Given the description of an element on the screen output the (x, y) to click on. 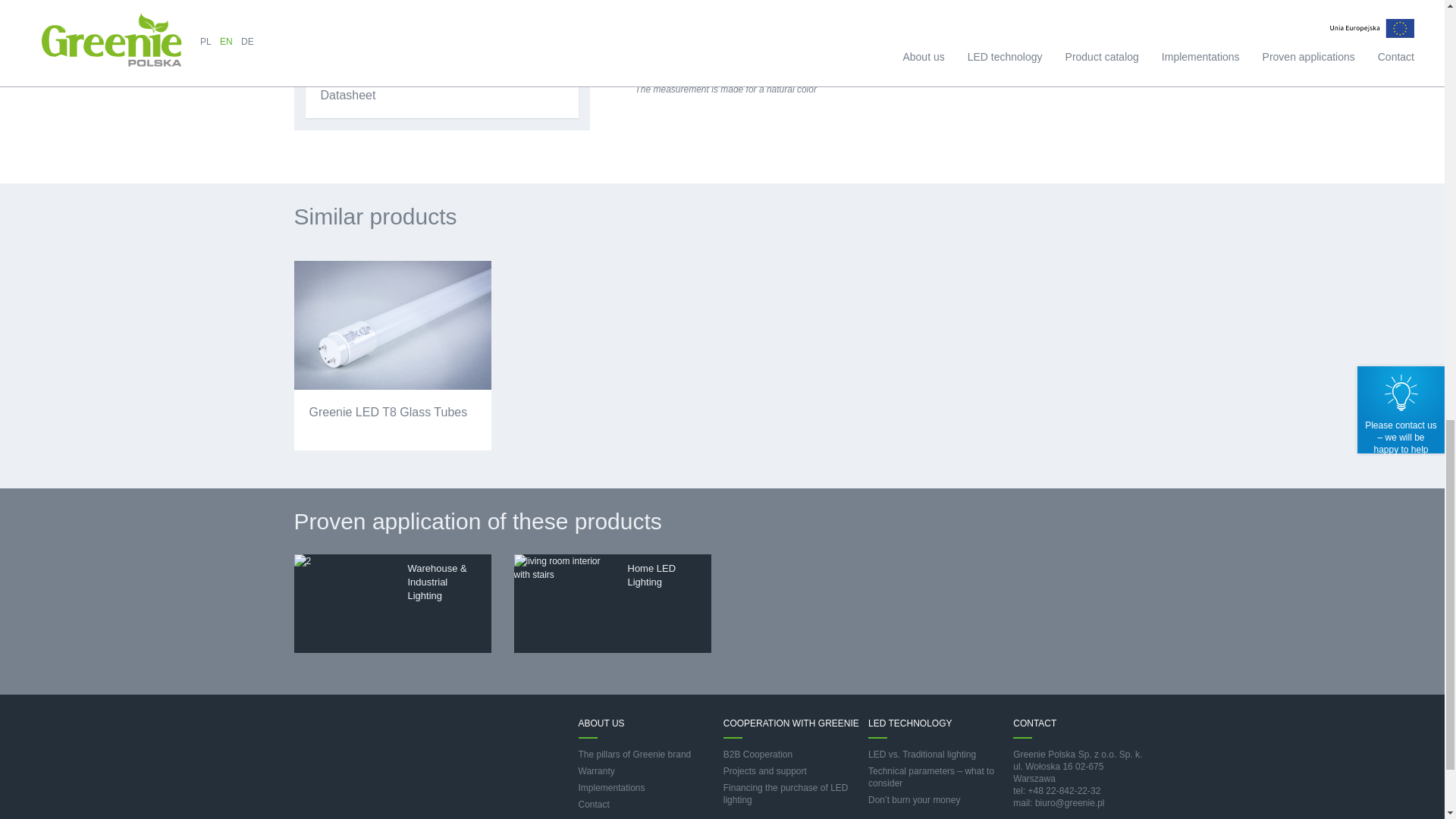
Warranty (596, 770)
B2B Cooperation (757, 754)
Facebook (1139, 806)
Contact (593, 804)
CONTACT (1035, 723)
ABOUT US (601, 723)
The pillars of Greenie brand (634, 754)
Financing the purchase of LED lighting (785, 793)
Implementations (611, 787)
Home LED Lighting (612, 603)
LED vs. Traditional lighting (921, 754)
LED TECHNOLOGY (909, 723)
Datasheet (441, 94)
Greenie LED T8 Glass Tubes (393, 355)
Projects and support (764, 770)
